Given the description of an element on the screen output the (x, y) to click on. 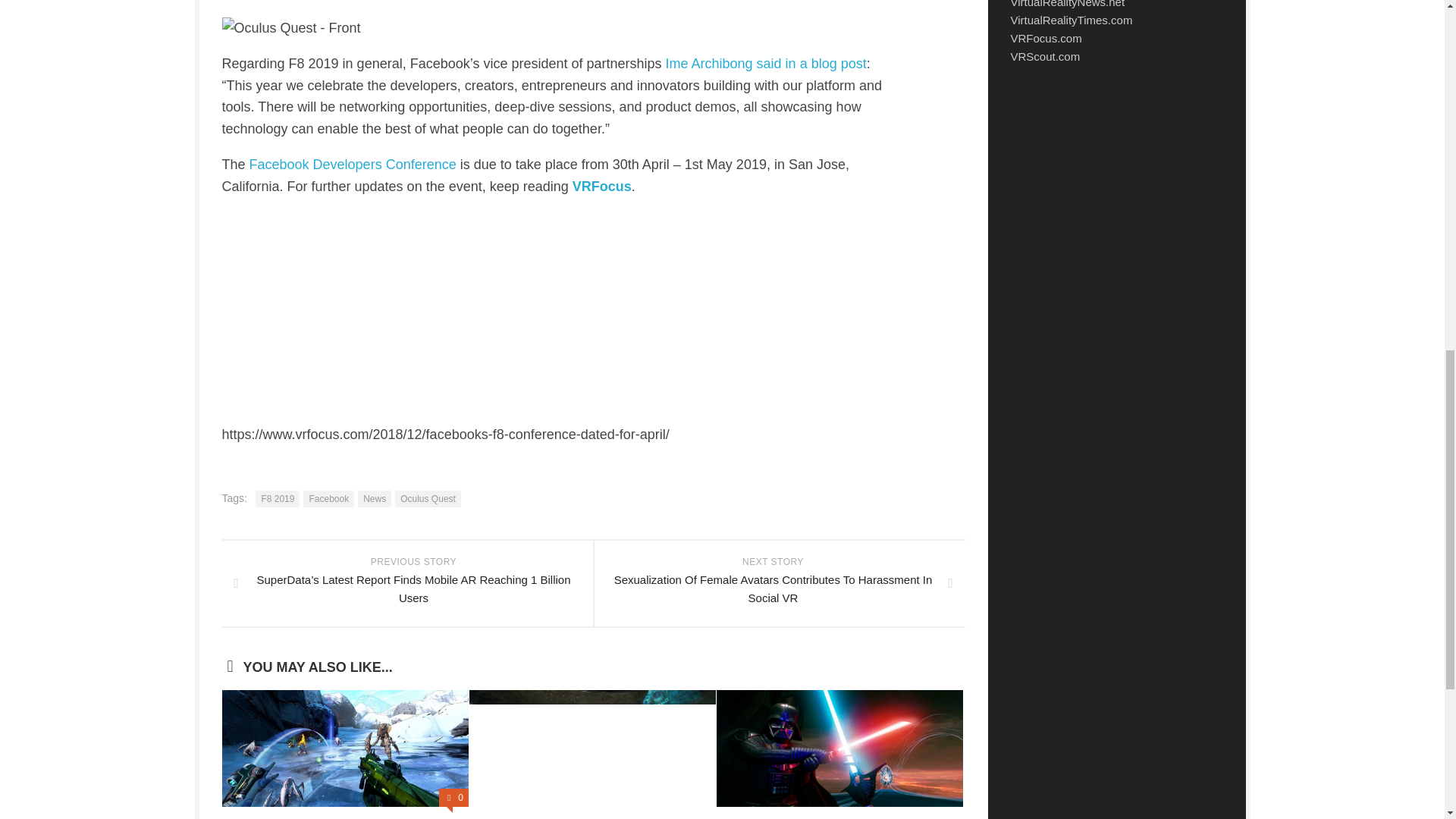
News (374, 498)
Advertisement (1115, 202)
Facebook (327, 498)
Ime Archibong said in a blog post (765, 63)
Oculus Quest (427, 498)
0 (453, 797)
Facebook Developers Conference (352, 164)
VRFocus (601, 186)
